Given the description of an element on the screen output the (x, y) to click on. 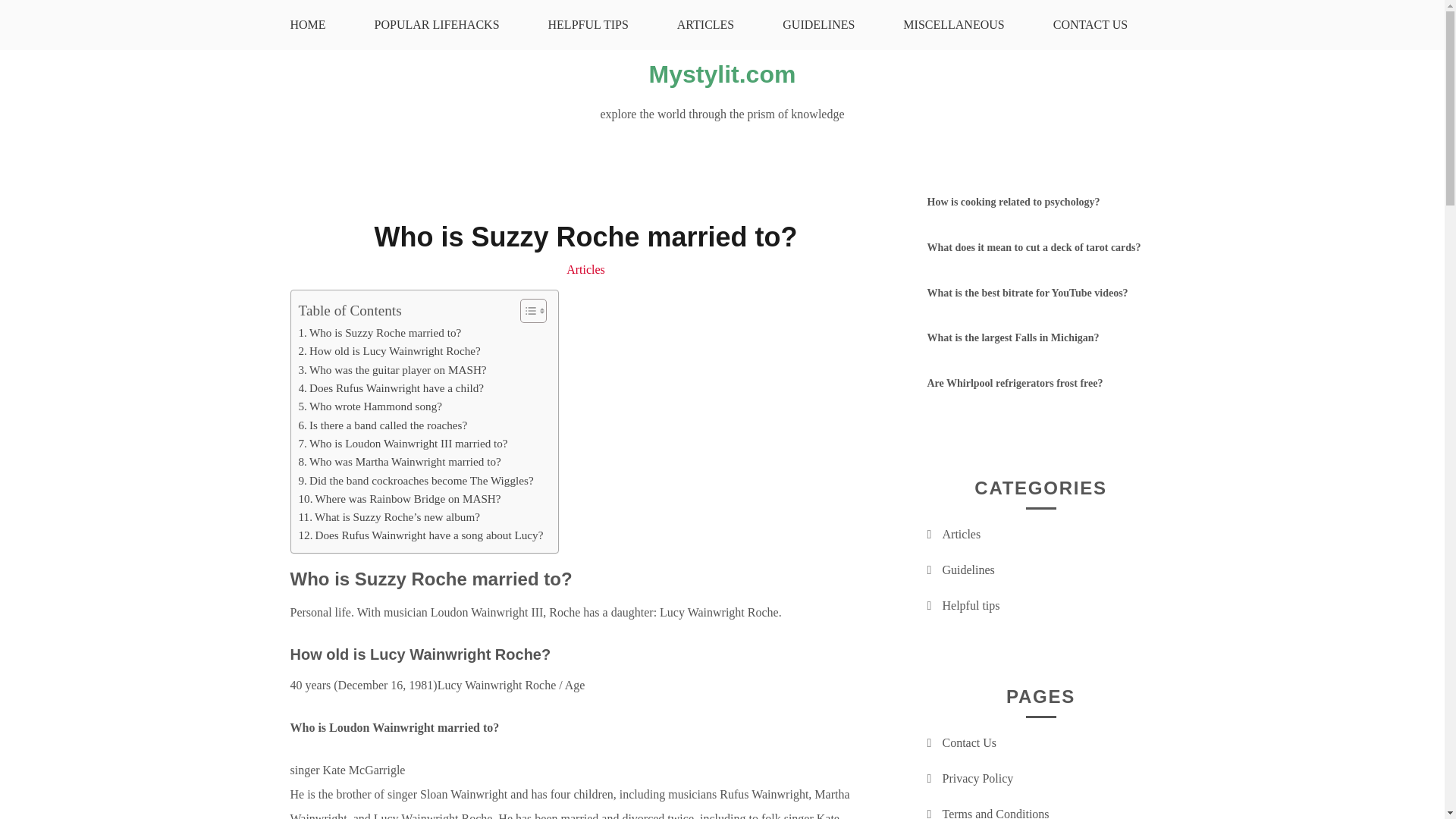
HELPFUL TIPS (587, 24)
How is cooking related to psychology? (1012, 202)
Does Rufus Wainwright have a song about Lucy? (420, 535)
Who was the guitar player on MASH? (392, 370)
Where was Rainbow Bridge on MASH? (399, 498)
Who was Martha Wainwright married to? (399, 461)
POPULAR LIFEHACKS (437, 24)
Is there a band called the roaches? (382, 425)
Did the band cockroaches become The Wiggles? (416, 480)
CONTACT US (1090, 24)
